Given the description of an element on the screen output the (x, y) to click on. 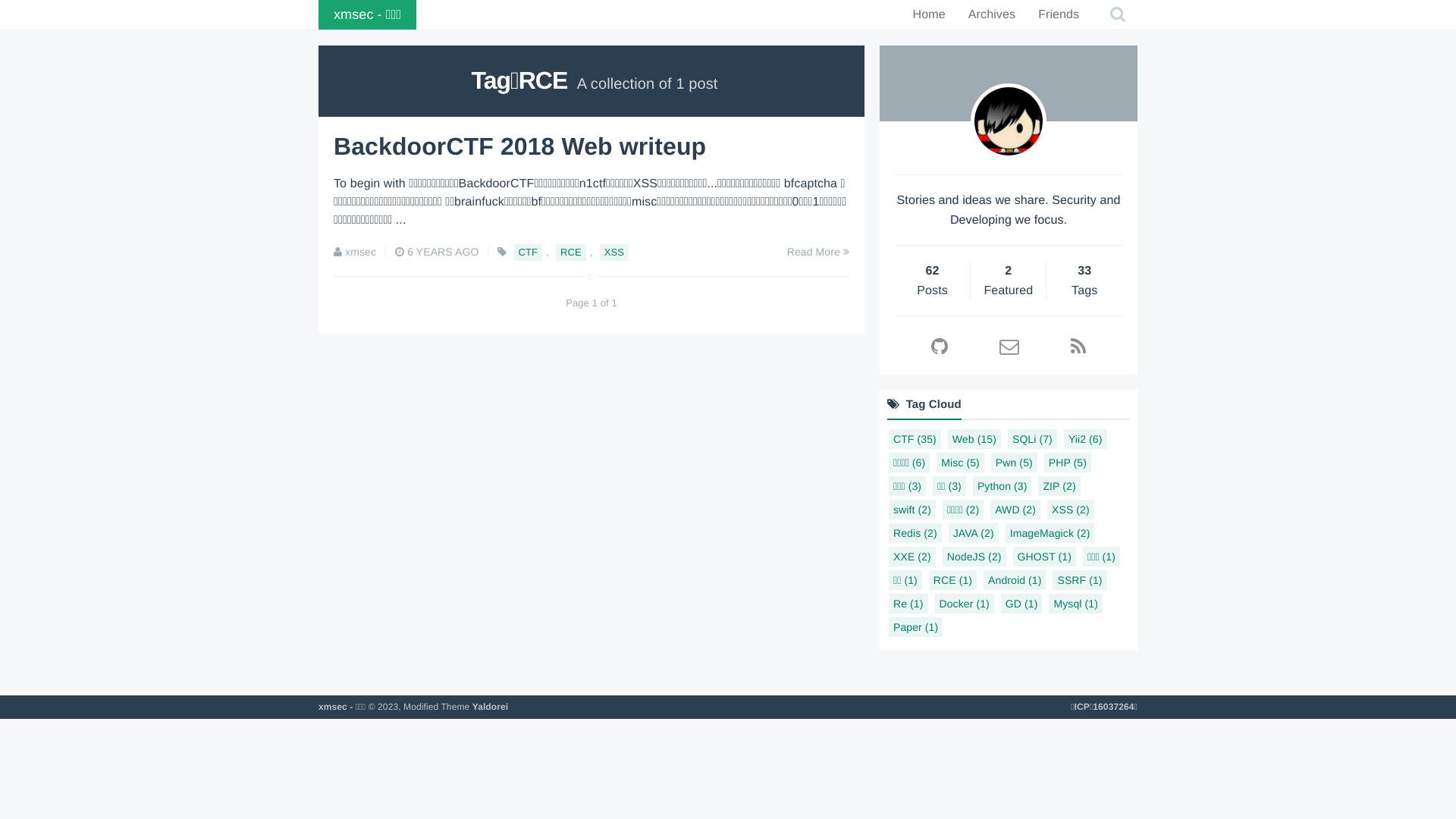
JAVA (2) Element type: text (973, 532)
Yaldorei Element type: text (490, 706)
Mysql (1) Element type: text (1074, 603)
ImageMagick (2) Element type: text (1050, 532)
SQLi (7) Element type: text (1032, 438)
GD (1) Element type: text (1021, 603)
Pwn (5) Element type: text (1014, 462)
Yii2 (6) Element type: text (1085, 438)
PHP (5) Element type: text (1067, 462)
Redis (2) Element type: text (914, 532)
RCE Element type: text (570, 252)
SSRF (1) Element type: text (1079, 579)
ZIP (2) Element type: text (1058, 485)
Read More Element type: text (818, 251)
Docker (1) Element type: text (963, 603)
Paper (1) Element type: text (915, 627)
BackdoorCTF 2018 Web writeup Element type: text (519, 146)
RCE (1) Element type: text (952, 579)
CTF Element type: text (528, 252)
Web (15) Element type: text (974, 438)
XSS Element type: text (613, 252)
Misc (5) Element type: text (960, 462)
xmsec Element type: text (360, 251)
XXE (2) Element type: text (911, 556)
Python (3) Element type: text (1002, 485)
NodeJS (2) Element type: text (974, 556)
AWD (2) Element type: text (1015, 509)
CTF (35) Element type: text (914, 438)
GHOST (1) Element type: text (1044, 556)
Android (1) Element type: text (1014, 579)
swift (2) Element type: text (911, 509)
Re (1) Element type: text (908, 603)
XSS (2) Element type: text (1070, 509)
